Given the description of an element on the screen output the (x, y) to click on. 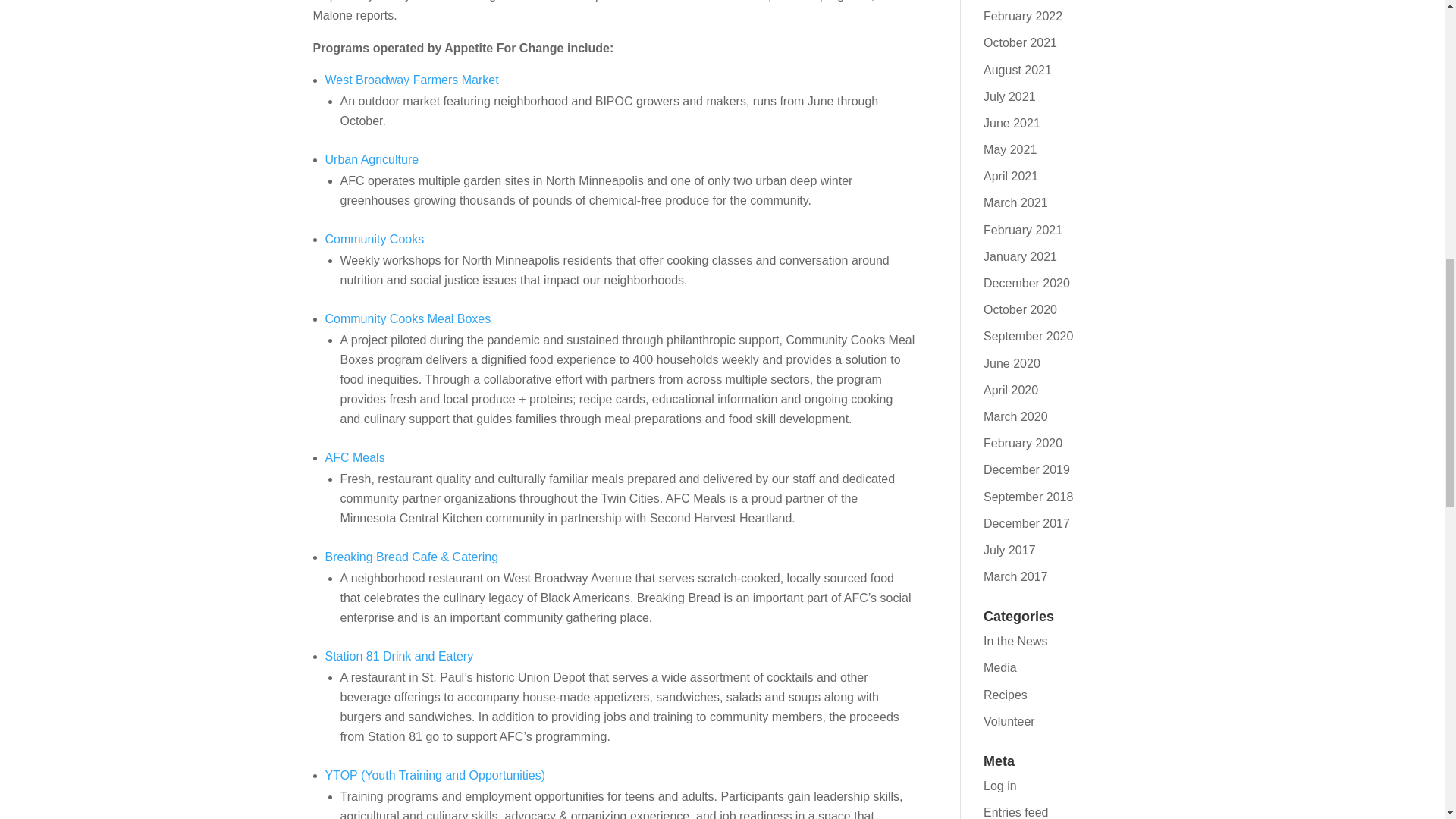
Urban Agriculture  (373, 159)
AFC Meals (354, 457)
West Broadway Farmers Market (410, 79)
Community Cooks Meal Boxes (407, 318)
Station 81 Drink and Eatery (398, 656)
Community Cooks (373, 238)
